Given the description of an element on the screen output the (x, y) to click on. 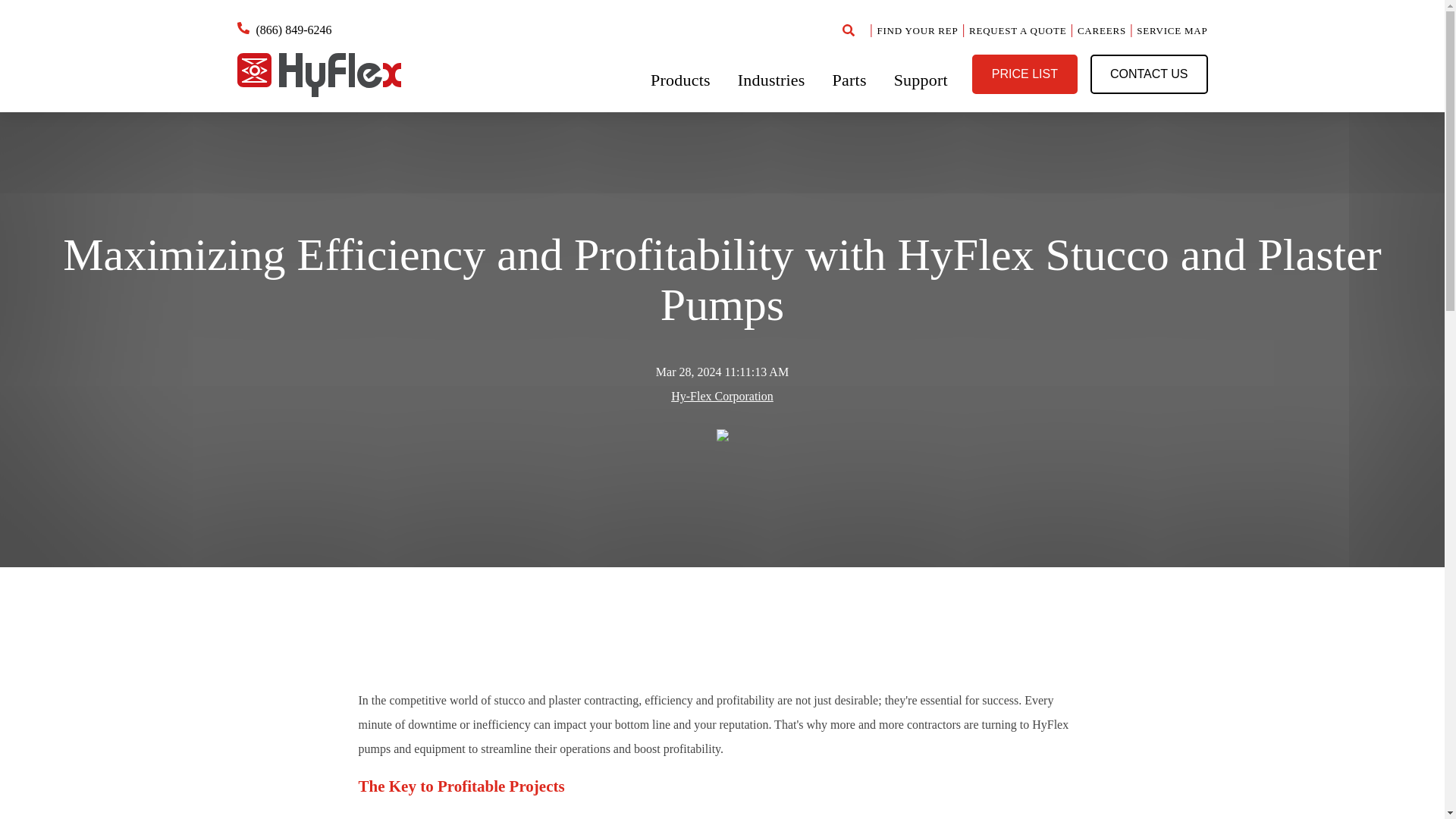
SERVICE MAP (1172, 30)
Parts (849, 79)
Products (680, 79)
REQUEST A QUOTE (1017, 30)
Industries (771, 79)
CAREERS (1101, 30)
hyflex-logo (317, 75)
FIND YOUR REP (917, 30)
